Given the description of an element on the screen output the (x, y) to click on. 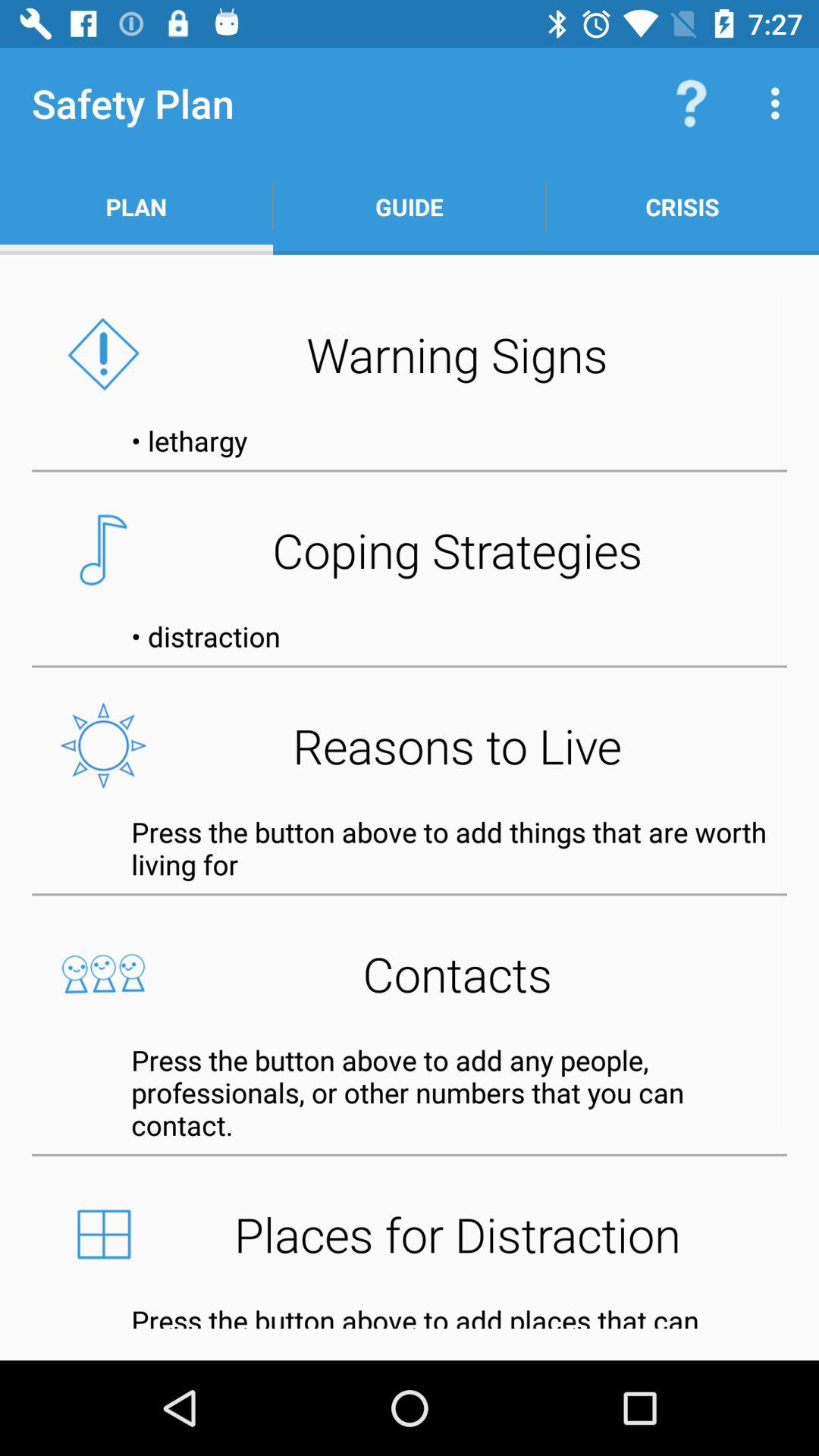
select reasons to live button (409, 745)
